Given the description of an element on the screen output the (x, y) to click on. 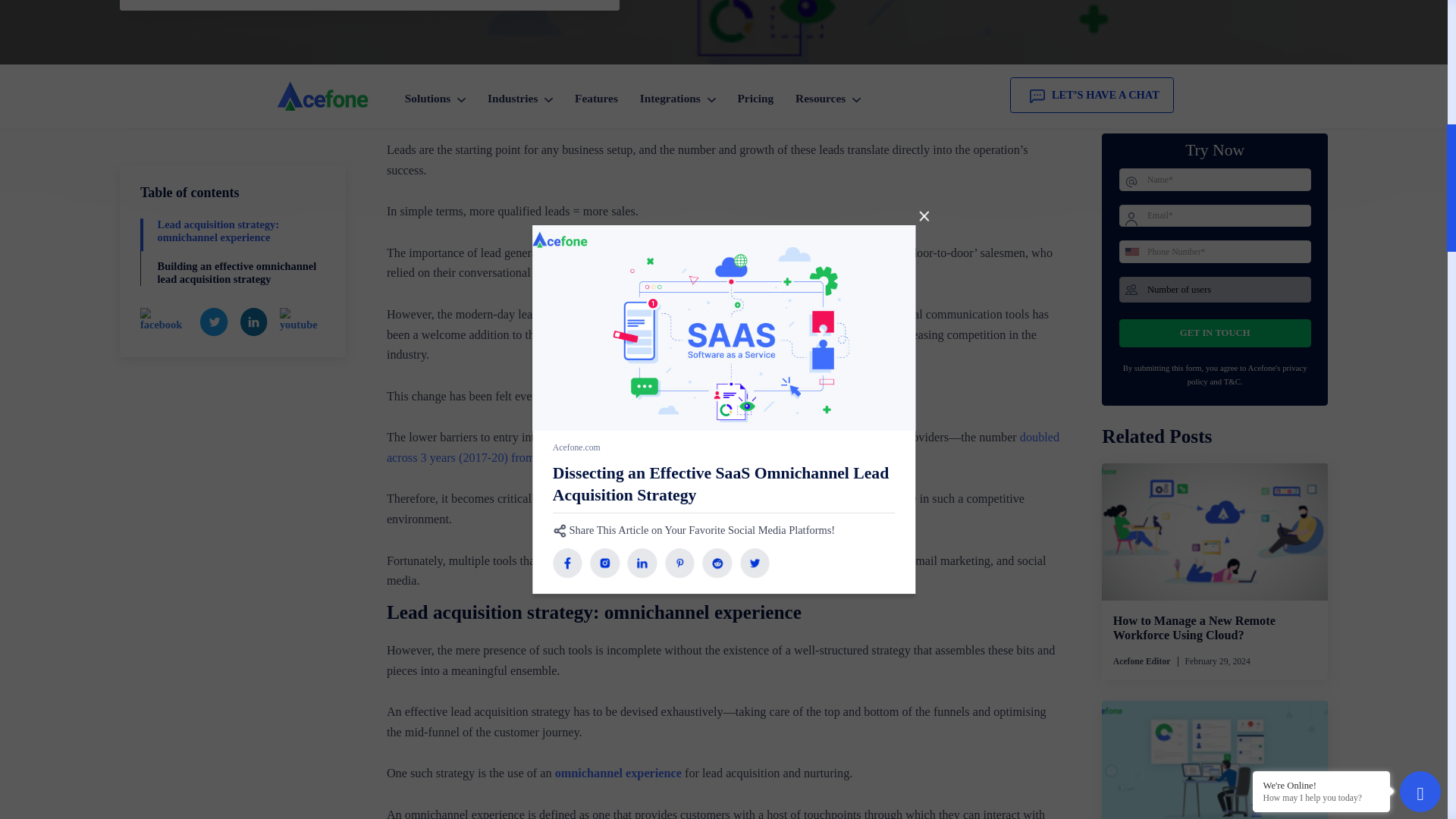
GET IN TOUCH (1345, 458)
How may I help you today? (1427, 64)
We're Online! (1427, 51)
